Given the description of an element on the screen output the (x, y) to click on. 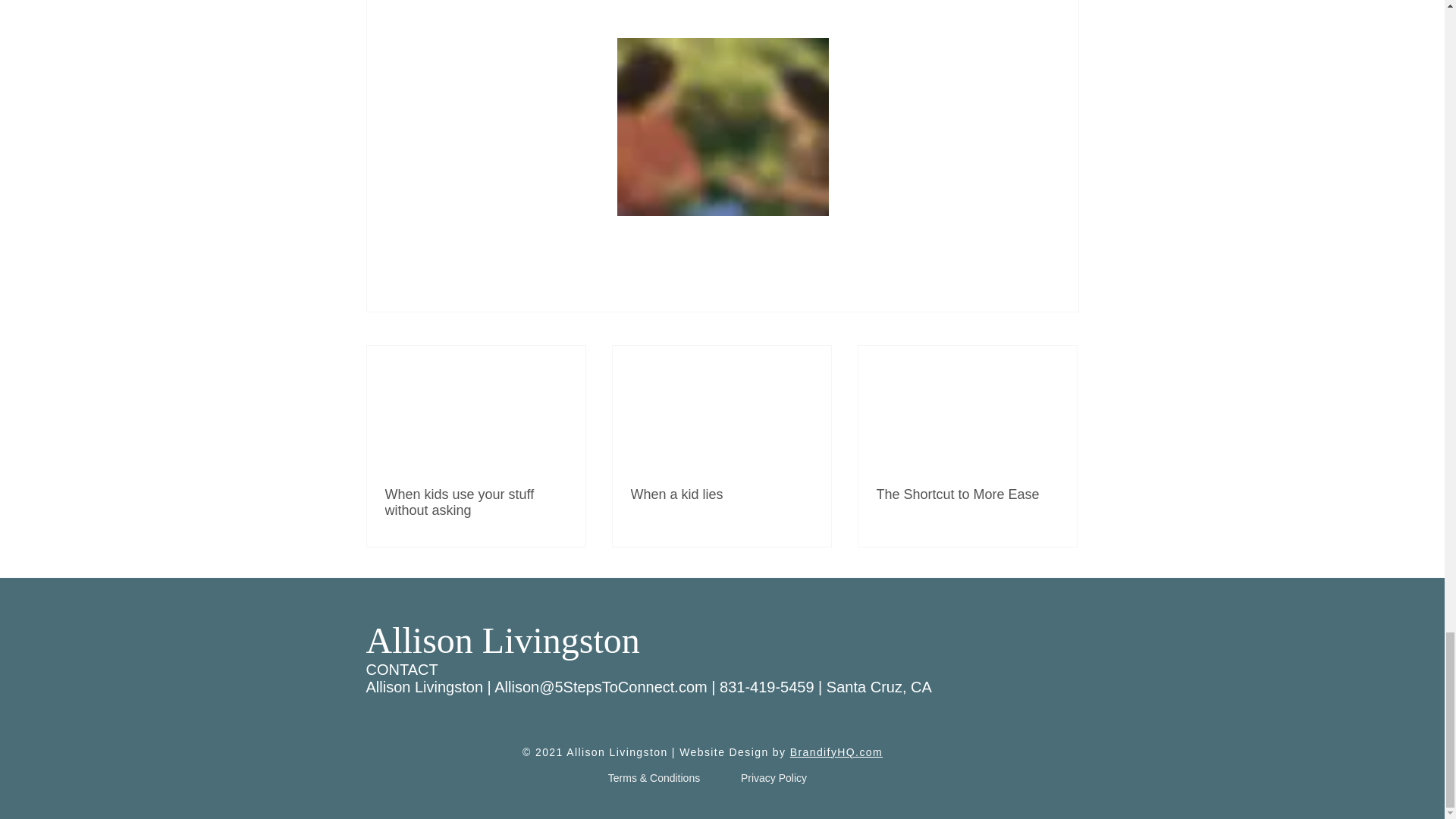
Privacy Policy (774, 777)
CONTACT (401, 669)
When a kid lies (721, 494)
The Shortcut to More Ease (967, 494)
When kids use your stuff without asking (476, 502)
BrandifyHQ.com (836, 752)
